Given the description of an element on the screen output the (x, y) to click on. 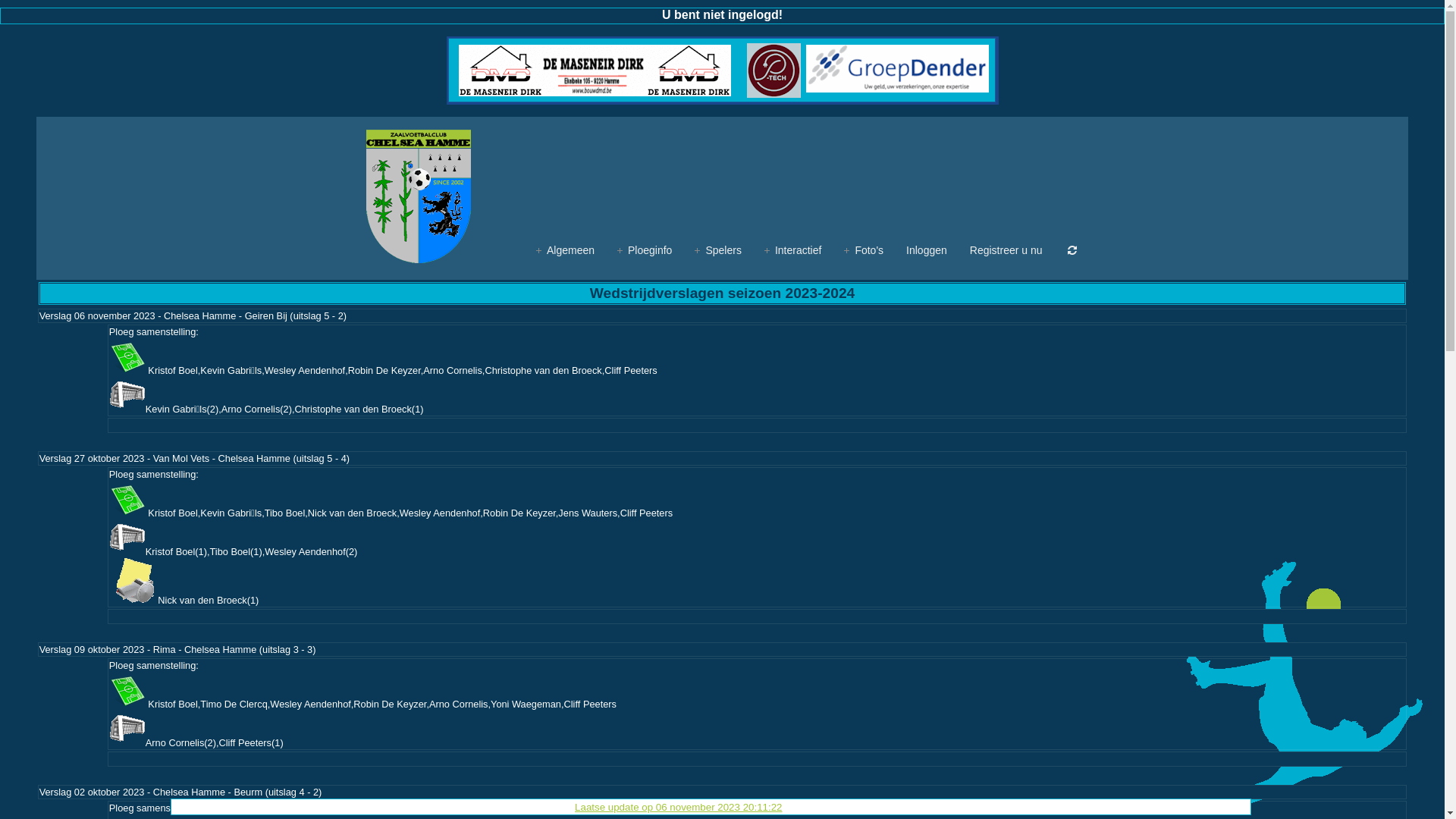
Registreer u nu Element type: text (1005, 250)
Interactief Element type: text (792, 250)
Algemeen Element type: text (565, 250)
Ploeginfo Element type: text (644, 250)
Foto's Element type: text (863, 250)
Laatse update op 06 november 2023 20:11:22 Element type: text (677, 806)
Spelers Element type: text (717, 250)
Inloggen Element type: text (926, 250)
